Given the description of an element on the screen output the (x, y) to click on. 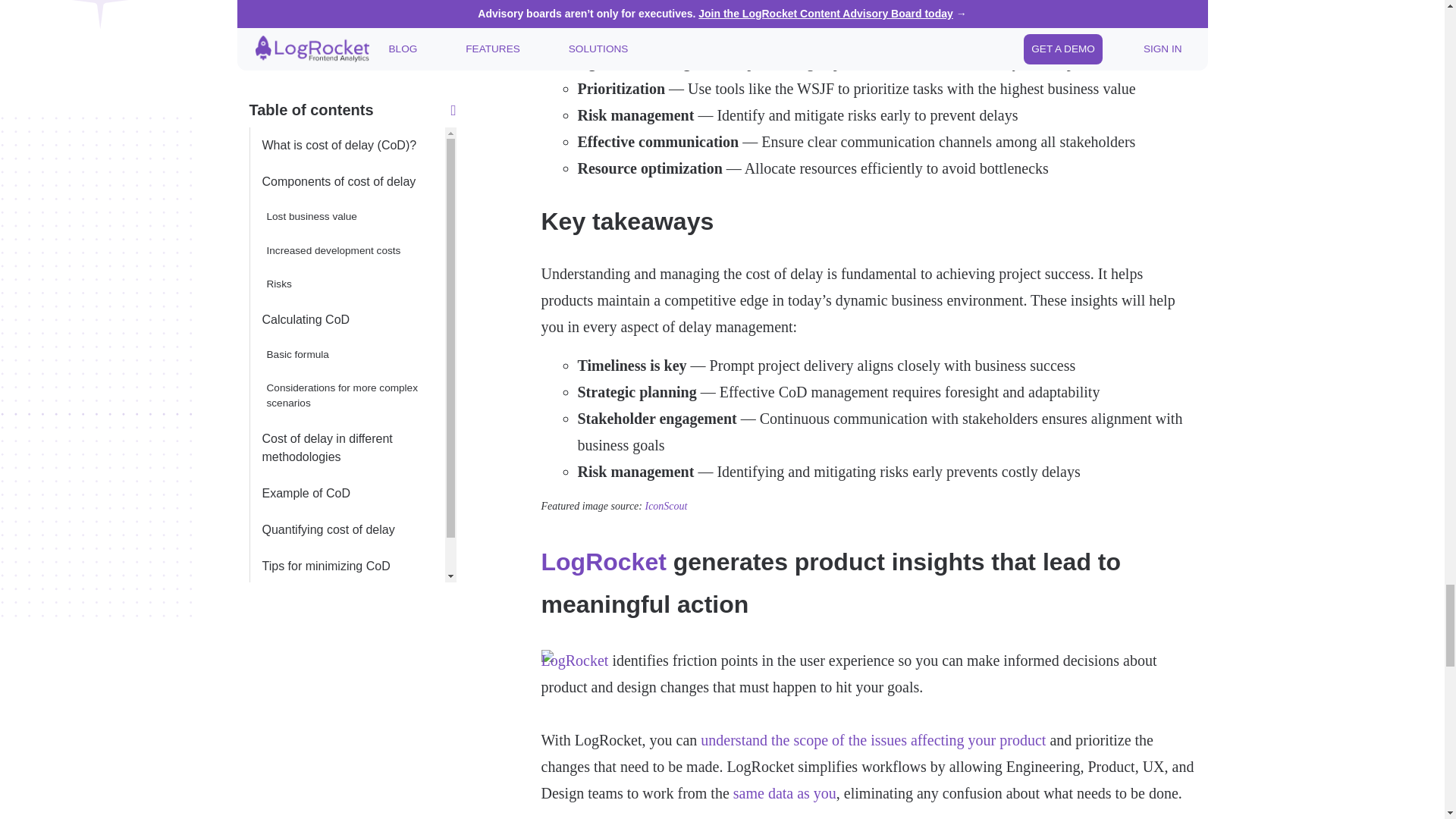
LogRocket (574, 660)
same data as you (784, 792)
LogRocket (603, 561)
IconScout (666, 505)
understand the scope of the issues affecting your product (872, 740)
